Given the description of an element on the screen output the (x, y) to click on. 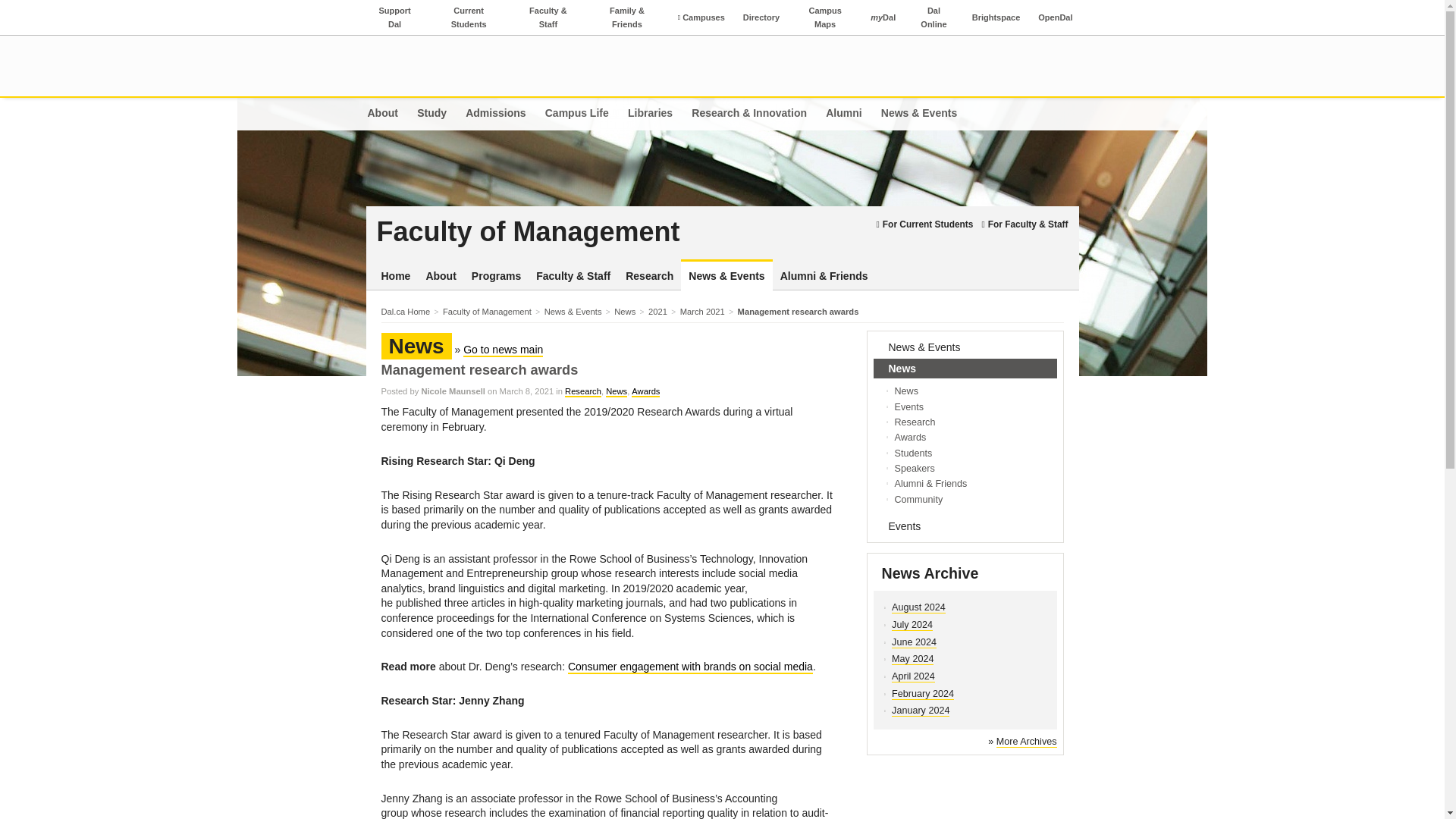
Directory (761, 17)
Dal Online (933, 17)
Programs (496, 276)
Back to Faculty of Management (621, 232)
Current Students (468, 17)
Dalhousie University (432, 65)
Support Dal (394, 17)
Campus Maps (825, 17)
About (440, 276)
For Current Students (923, 224)
